Given the description of an element on the screen output the (x, y) to click on. 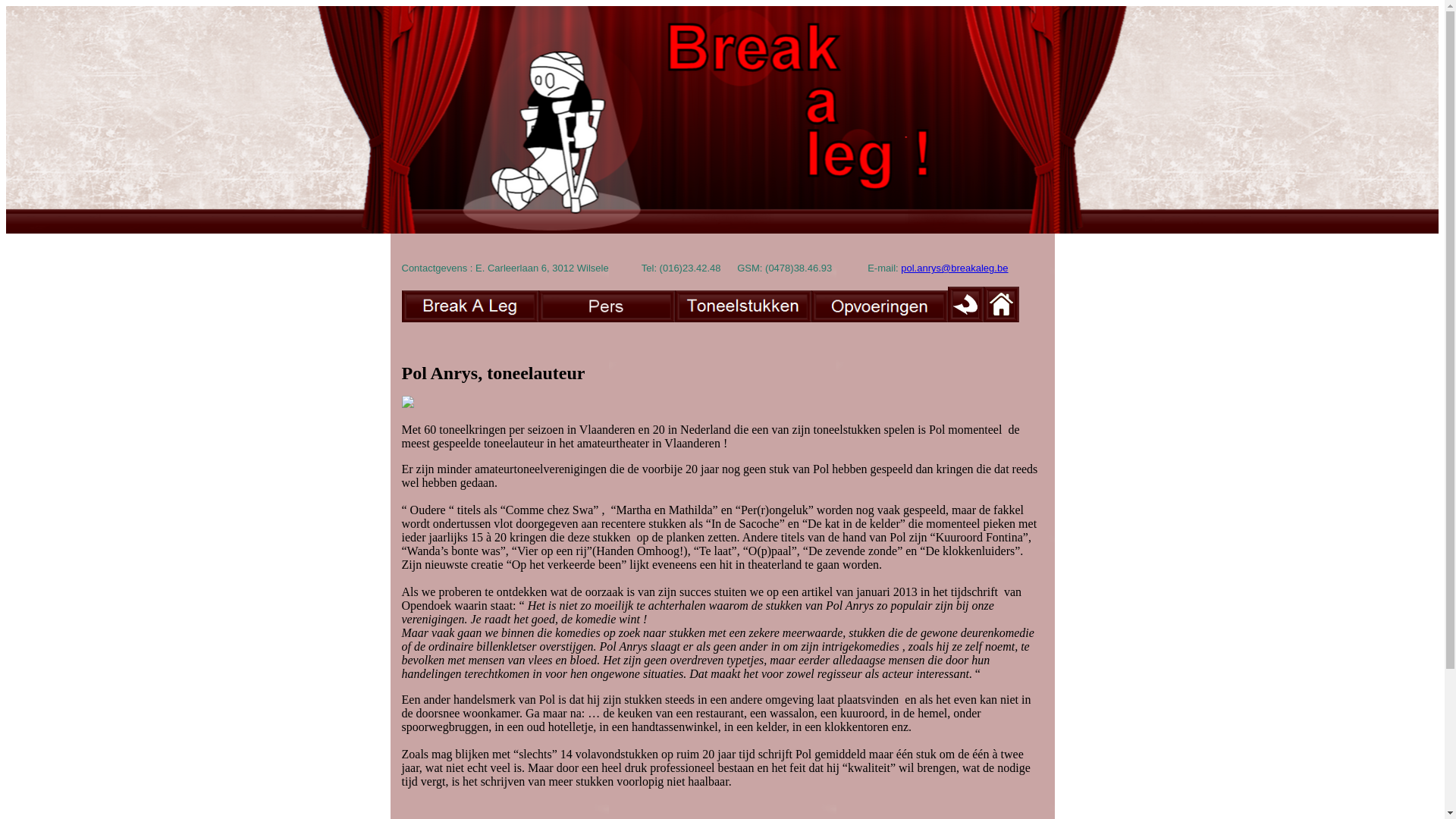
pol.anrys@breakaleg.be Element type: text (953, 267)
